Given the description of an element on the screen output the (x, y) to click on. 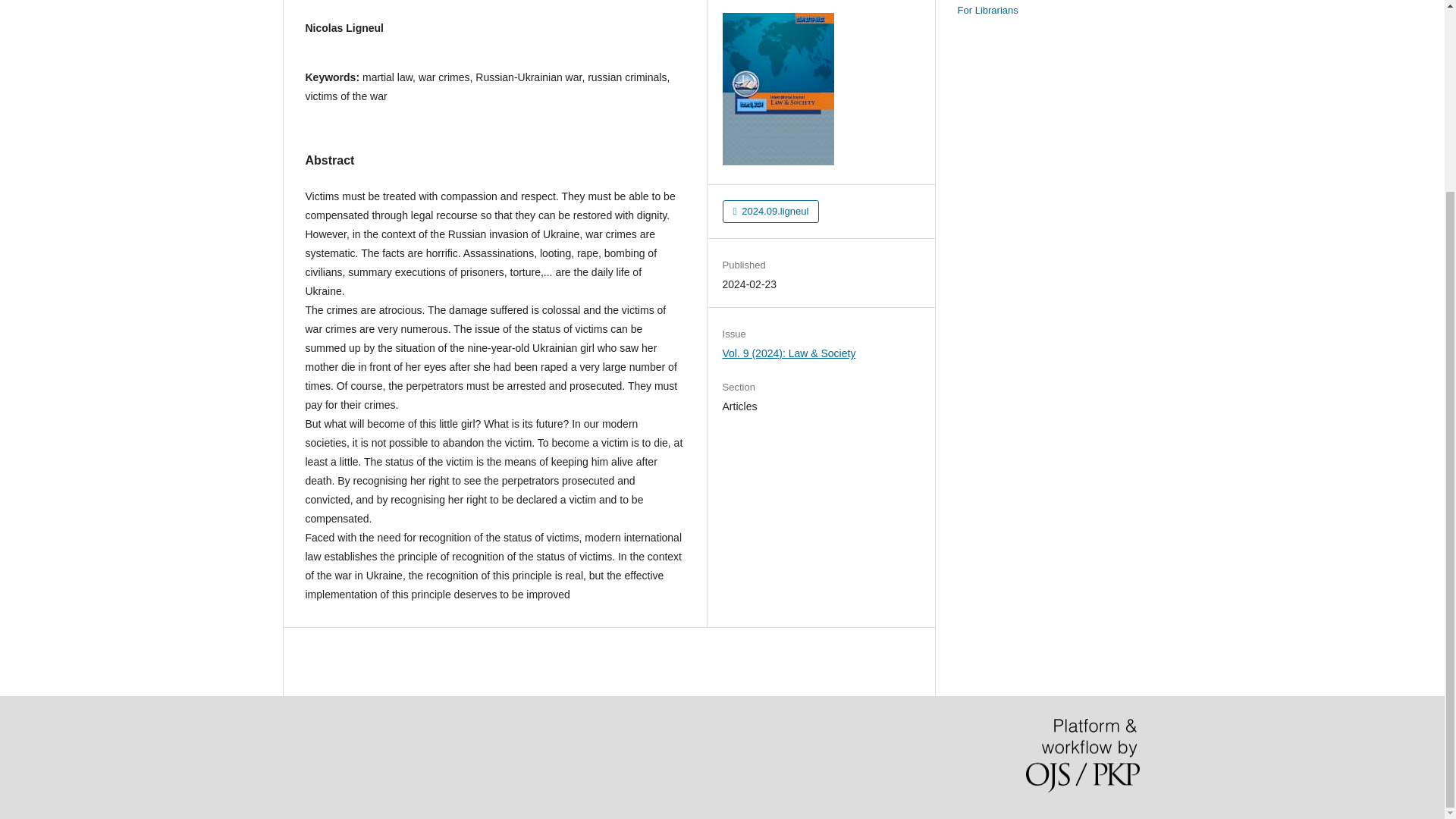
For Librarians (986, 9)
2024.09.ligneul (770, 210)
